Given the description of an element on the screen output the (x, y) to click on. 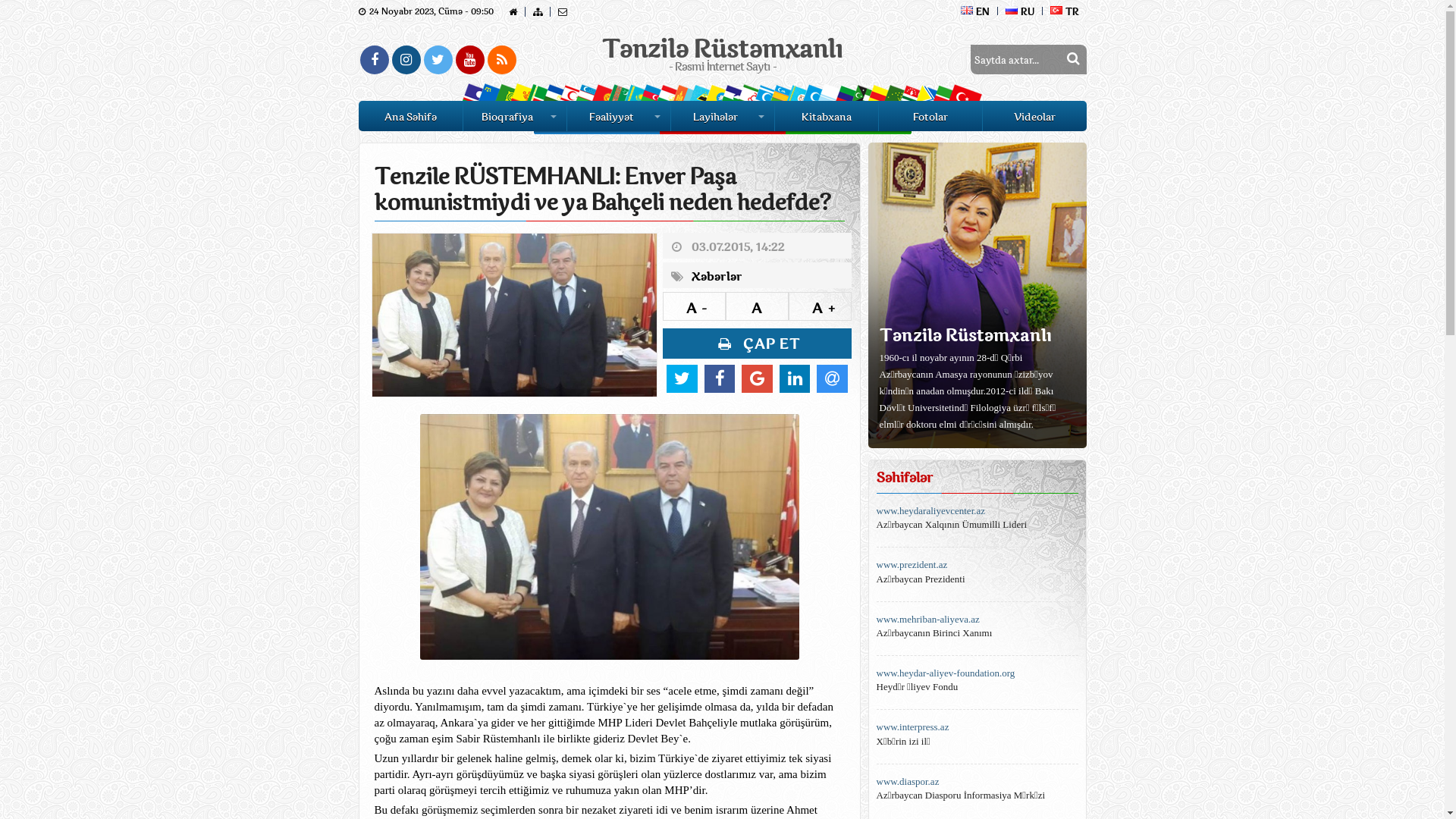
www.heydar-aliyev-foundation.org Element type: text (977, 673)
Videolar Element type: text (1033, 115)
A Element type: text (756, 305)
Fotolar Element type: text (930, 115)
www.mehriban-aliyeva.az Element type: text (977, 619)
TR Element type: text (1063, 10)
A + Element type: text (819, 305)
A - Element type: text (693, 305)
EN Element type: text (974, 10)
Youtube Element type: hover (469, 59)
www.heydaraliyevcenter.az Element type: text (977, 510)
www.interpress.az Element type: text (977, 727)
Facebook Element type: hover (373, 59)
Bioqrafiya Element type: text (514, 115)
www.diaspor.az Element type: text (977, 781)
Instagram Element type: hover (405, 59)
RU Element type: text (1019, 10)
RSS Element type: hover (501, 59)
www.prezident.az Element type: text (977, 564)
Kitabxana Element type: text (826, 115)
Twitter Element type: hover (437, 59)
